Given the description of an element on the screen output the (x, y) to click on. 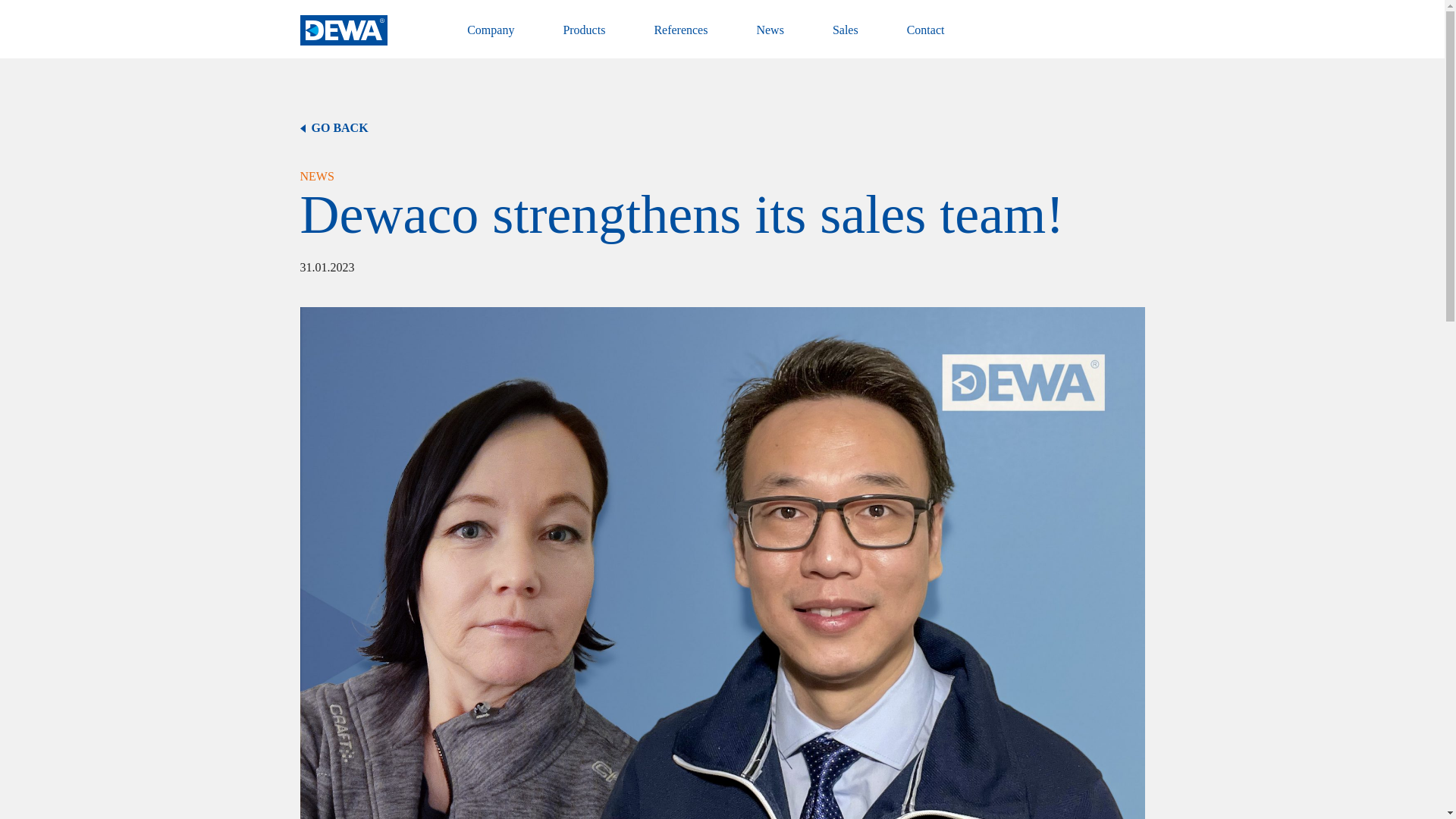
GO BACK (721, 127)
Products (583, 39)
Contact (925, 39)
Company (490, 39)
References (680, 39)
